Given the description of an element on the screen output the (x, y) to click on. 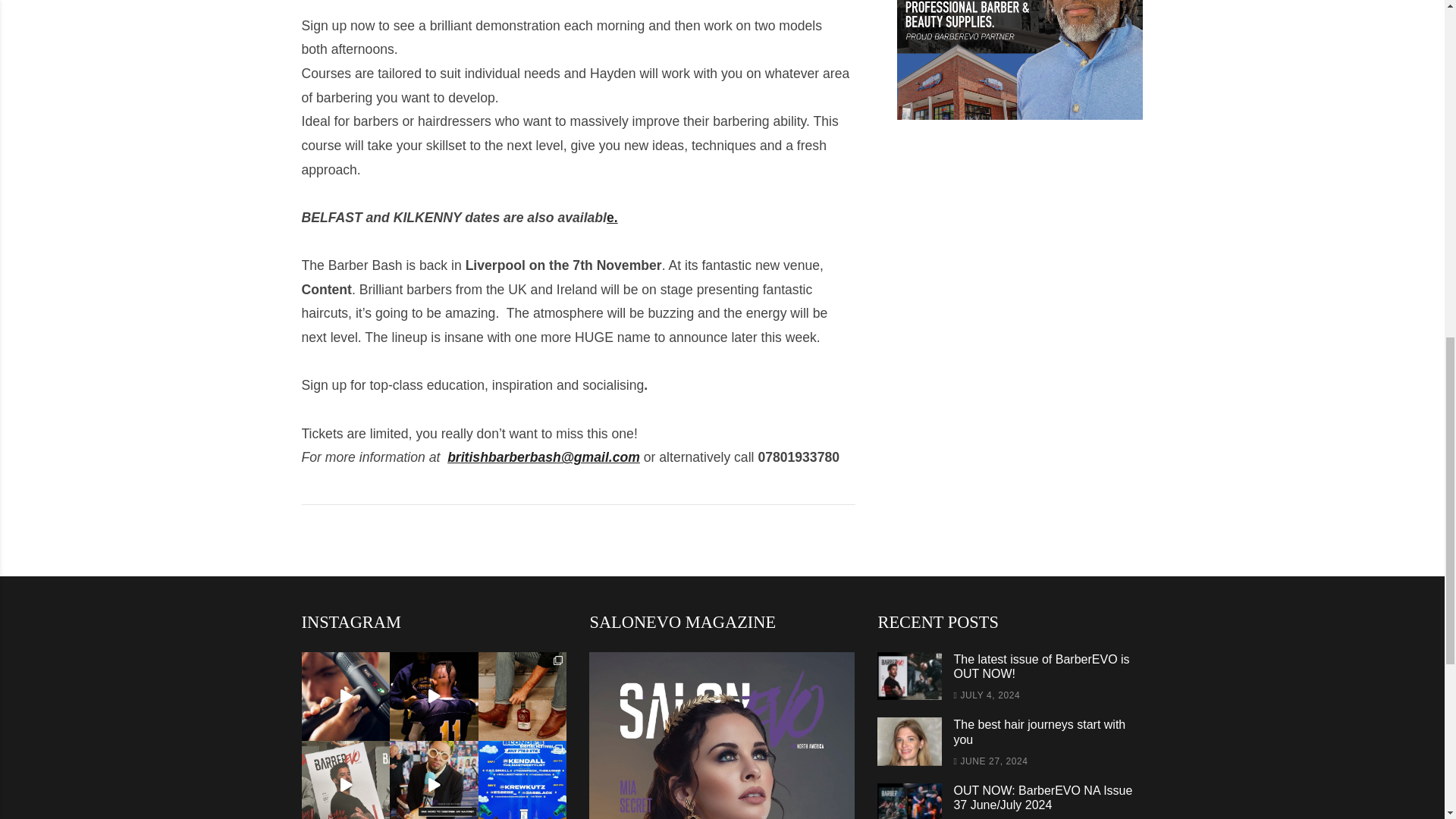
SalonEVO Magazine (721, 735)
The latest issue of BarberEVO is OUT NOW! (909, 675)
The latest issue of BarberEVO is OUT NOW! (1041, 666)
